Given the description of an element on the screen output the (x, y) to click on. 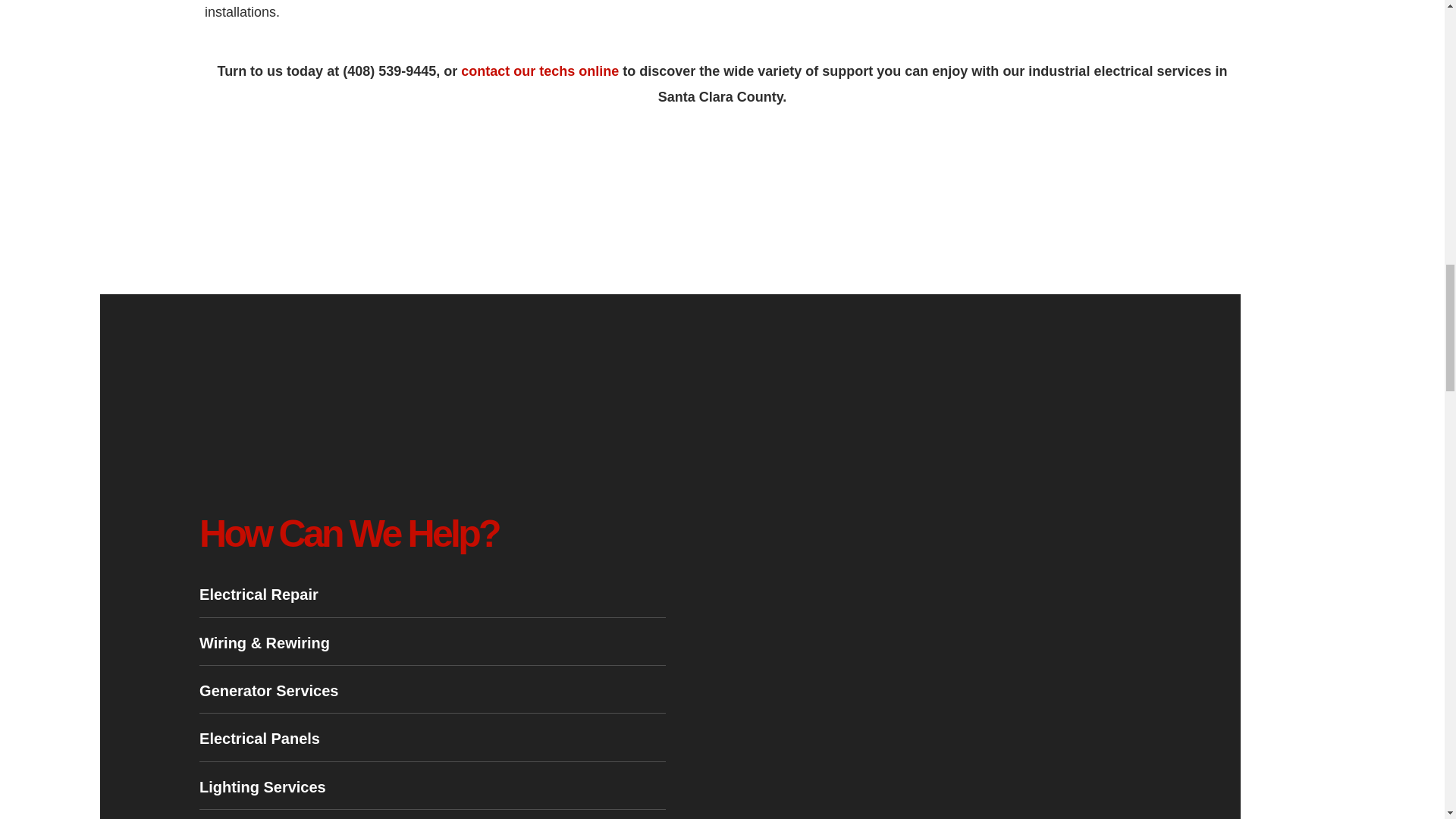
contact our techs online (539, 70)
Generator Services (432, 690)
Electrical Panels (432, 738)
Lighting Services (432, 786)
Electrical Repair (432, 594)
